Given the description of an element on the screen output the (x, y) to click on. 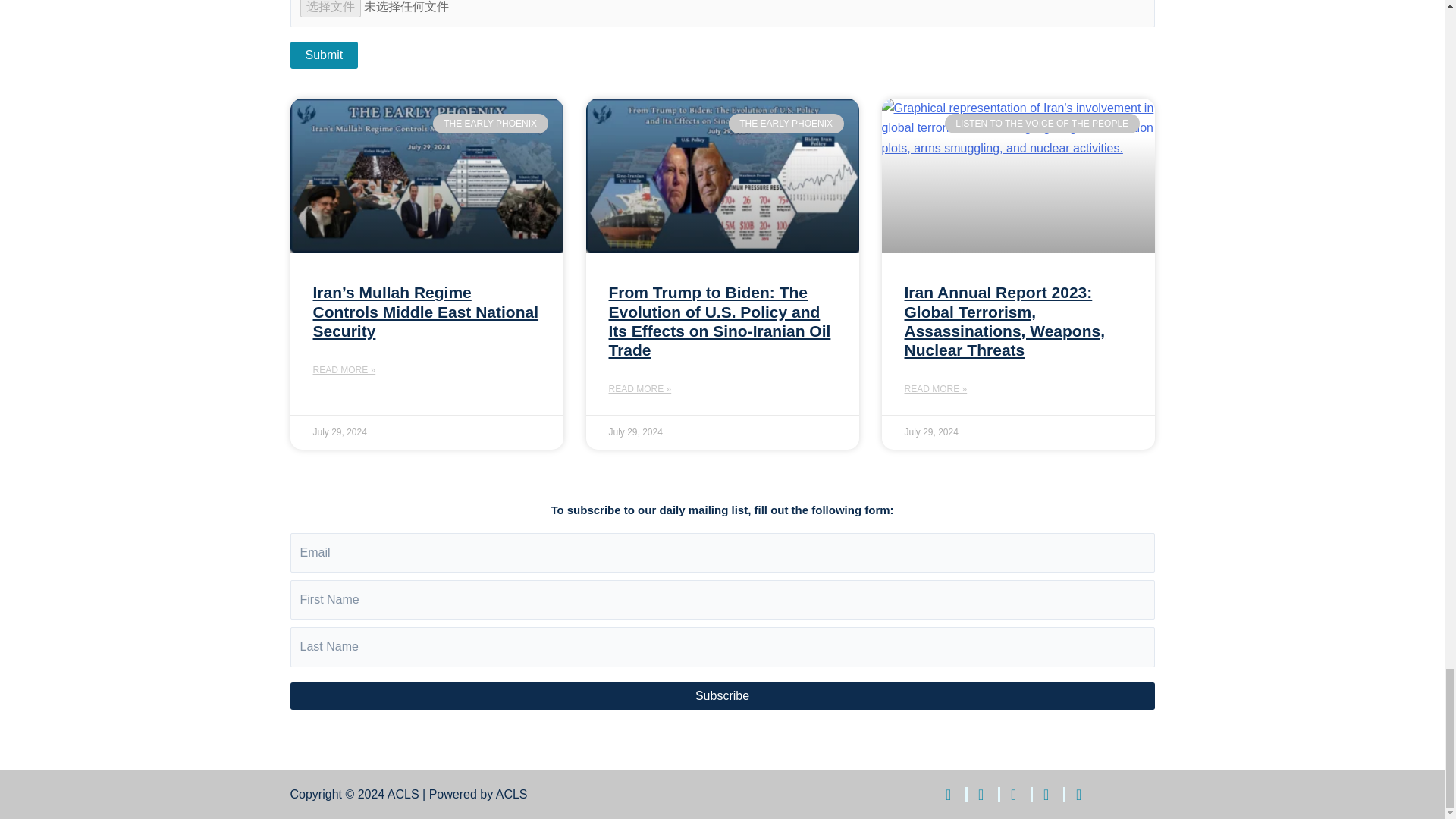
Submit (323, 54)
